Given the description of an element on the screen output the (x, y) to click on. 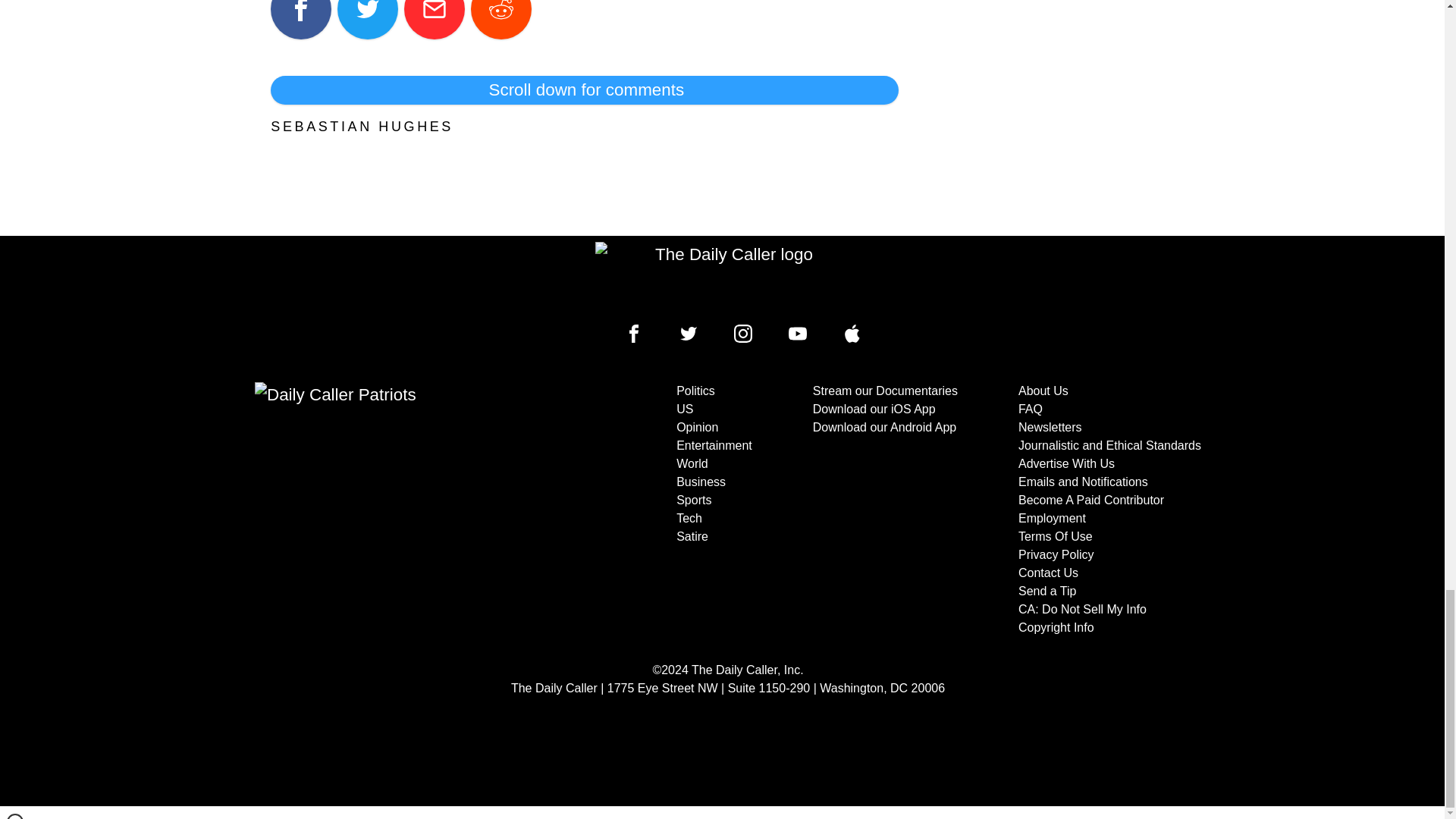
To home page (727, 276)
Daily Caller YouTube (797, 333)
Daily Caller Instagram (742, 333)
Daily Caller YouTube (852, 333)
Daily Caller Twitter (688, 333)
Subscribe to The Daily Caller (405, 509)
Scroll down for comments (584, 90)
Daily Caller Facebook (633, 333)
